Given the description of an element on the screen output the (x, y) to click on. 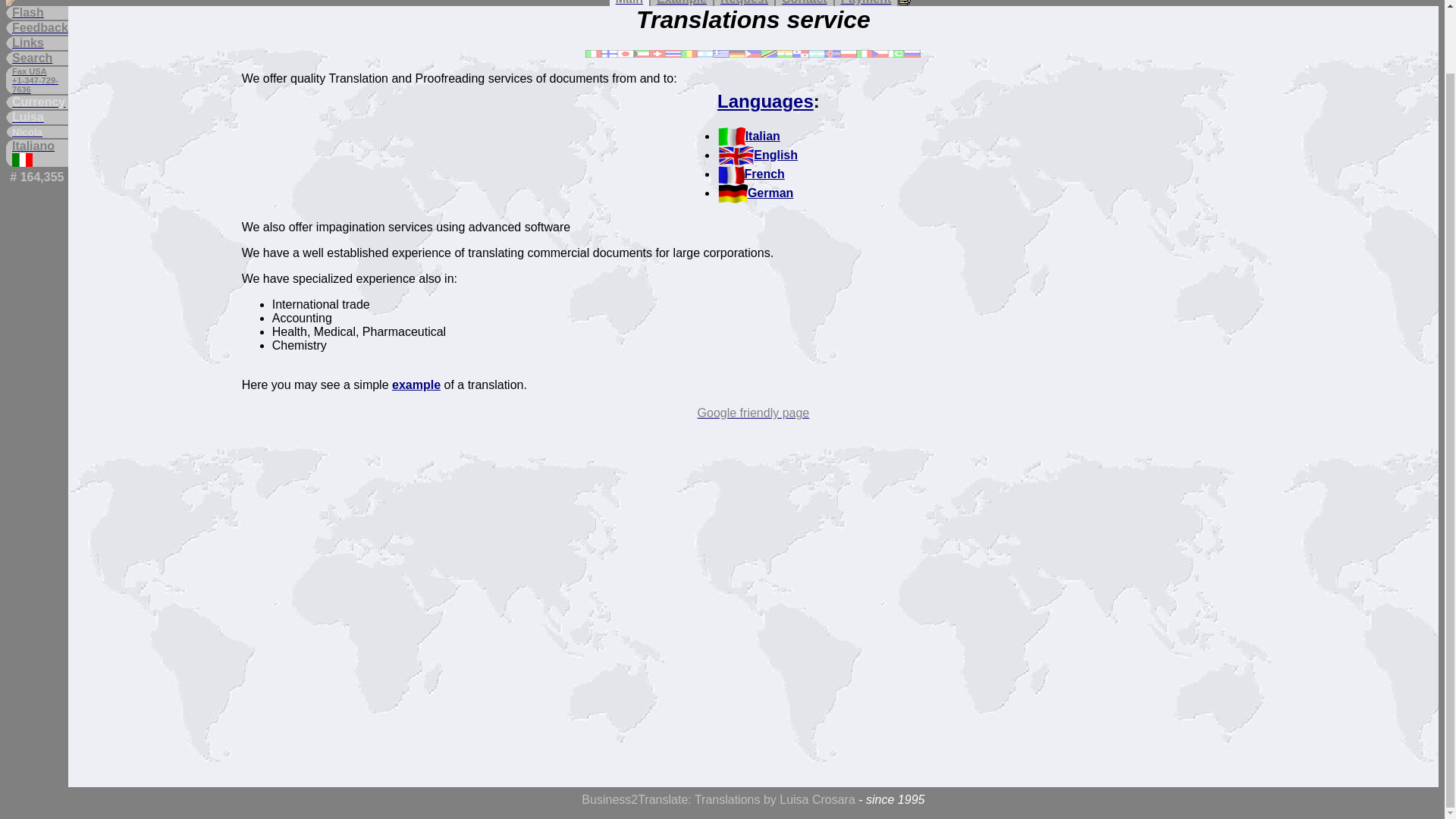
Luisa (39, 117)
English (757, 154)
French (750, 173)
Nicola (39, 131)
German (755, 192)
Main (629, 2)
example (416, 384)
Flash (39, 12)
Currency (39, 101)
Contact (804, 2)
